Given the description of an element on the screen output the (x, y) to click on. 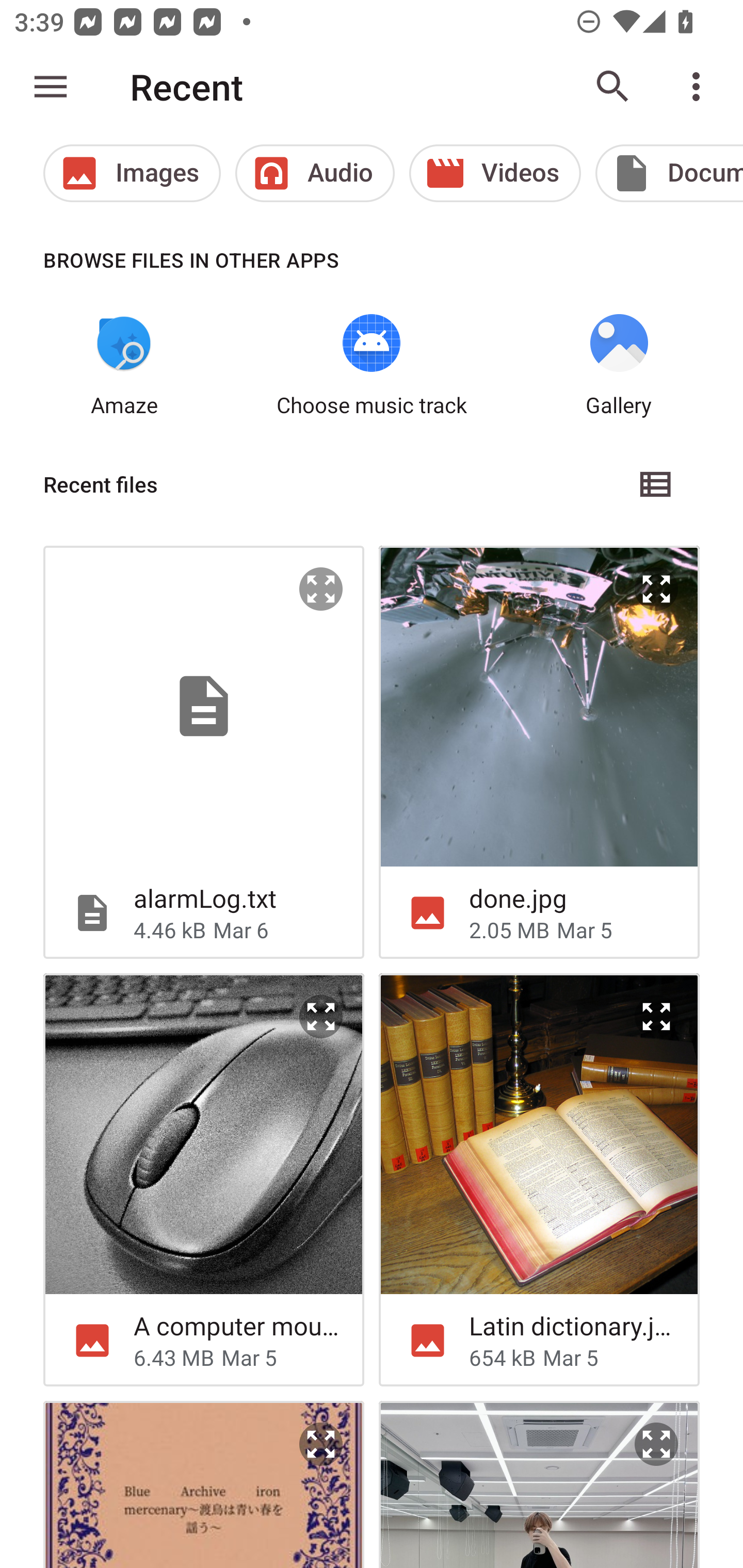
Show roots (50, 86)
Search (612, 86)
More options (699, 86)
Images (131, 173)
Audio (314, 173)
Videos (495, 173)
Documents (669, 173)
Amaze (123, 365)
Choose music track (371, 365)
Gallery (619, 365)
List view (655, 484)
Preview the file alarmLog.txt (320, 588)
Preview the file done.jpg done.jpg 2.05 MB Mar 5 (538, 752)
Preview the file done.jpg (655, 588)
Preview the file Latin dictionary.jpg (655, 1016)
